Given the description of an element on the screen output the (x, y) to click on. 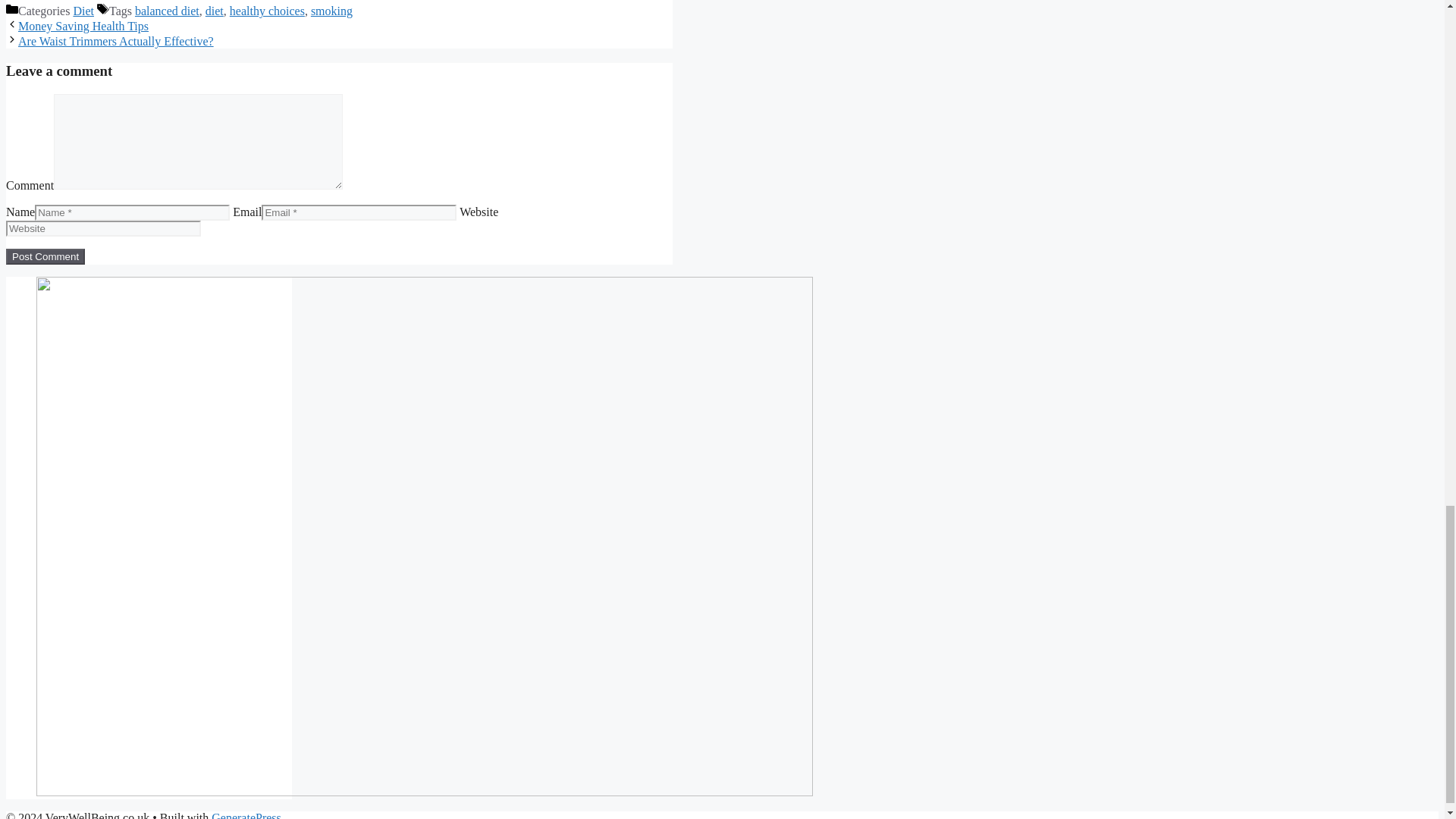
Diet (83, 10)
Money Saving Health Tips (82, 25)
Are Waist Trimmers Actually Effective? (115, 41)
Post Comment (44, 256)
Scroll back to top (1406, 177)
Post Comment (44, 256)
balanced diet (167, 10)
smoking (331, 10)
diet (214, 10)
healthy choices (267, 10)
